Given the description of an element on the screen output the (x, y) to click on. 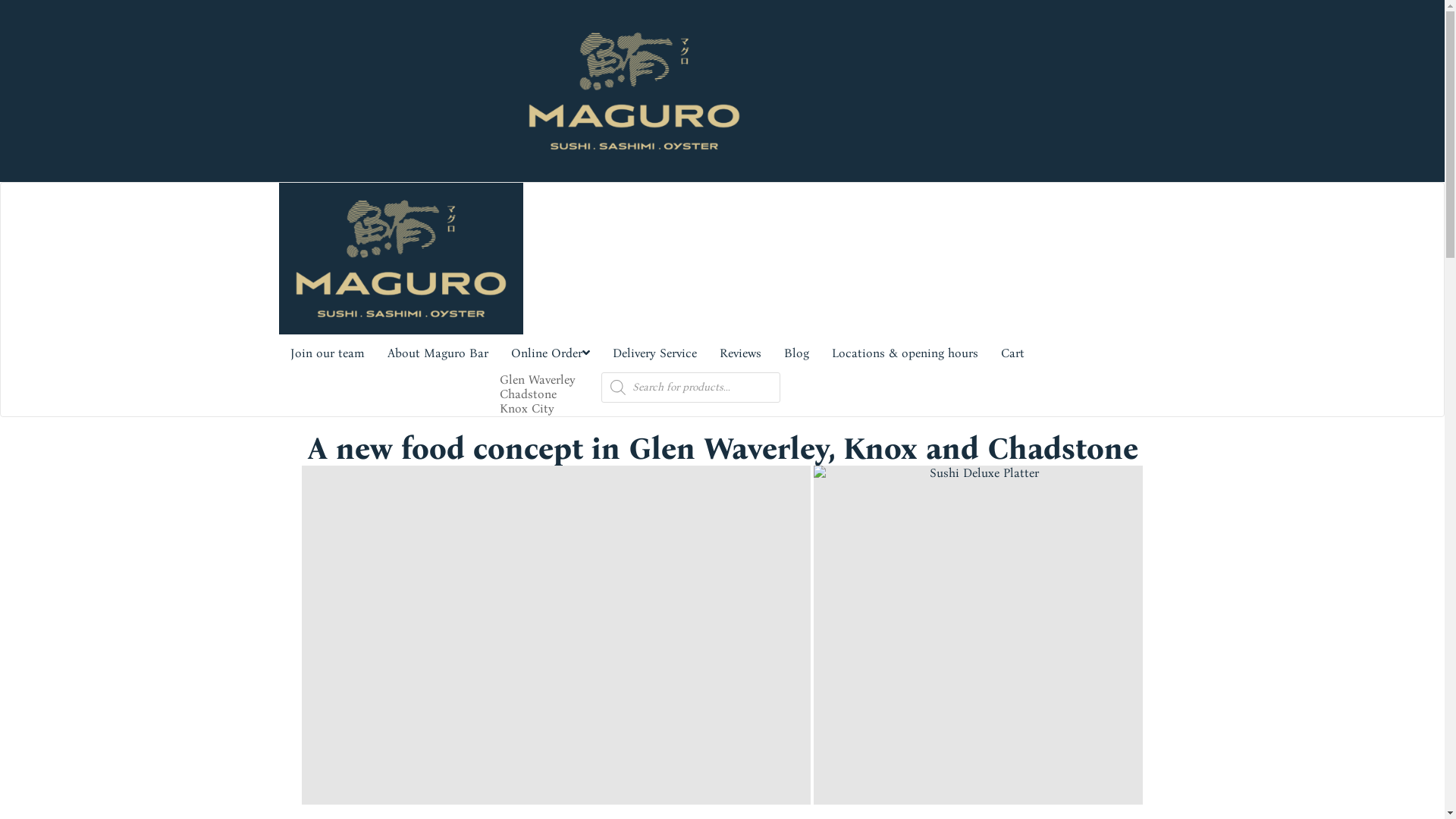
Locations & opening hours Element type: text (904, 353)
Delivery Service Element type: text (653, 353)
Knox City Element type: text (525, 408)
Online Order Element type: text (549, 353)
About Maguro Bar Element type: text (437, 353)
Join our team Element type: text (327, 353)
Blog Element type: text (795, 353)
Reviews Element type: text (740, 353)
Glen Waverley Element type: text (536, 379)
Cart Element type: text (1011, 353)
Chadstone Element type: text (526, 393)
